Given the description of an element on the screen output the (x, y) to click on. 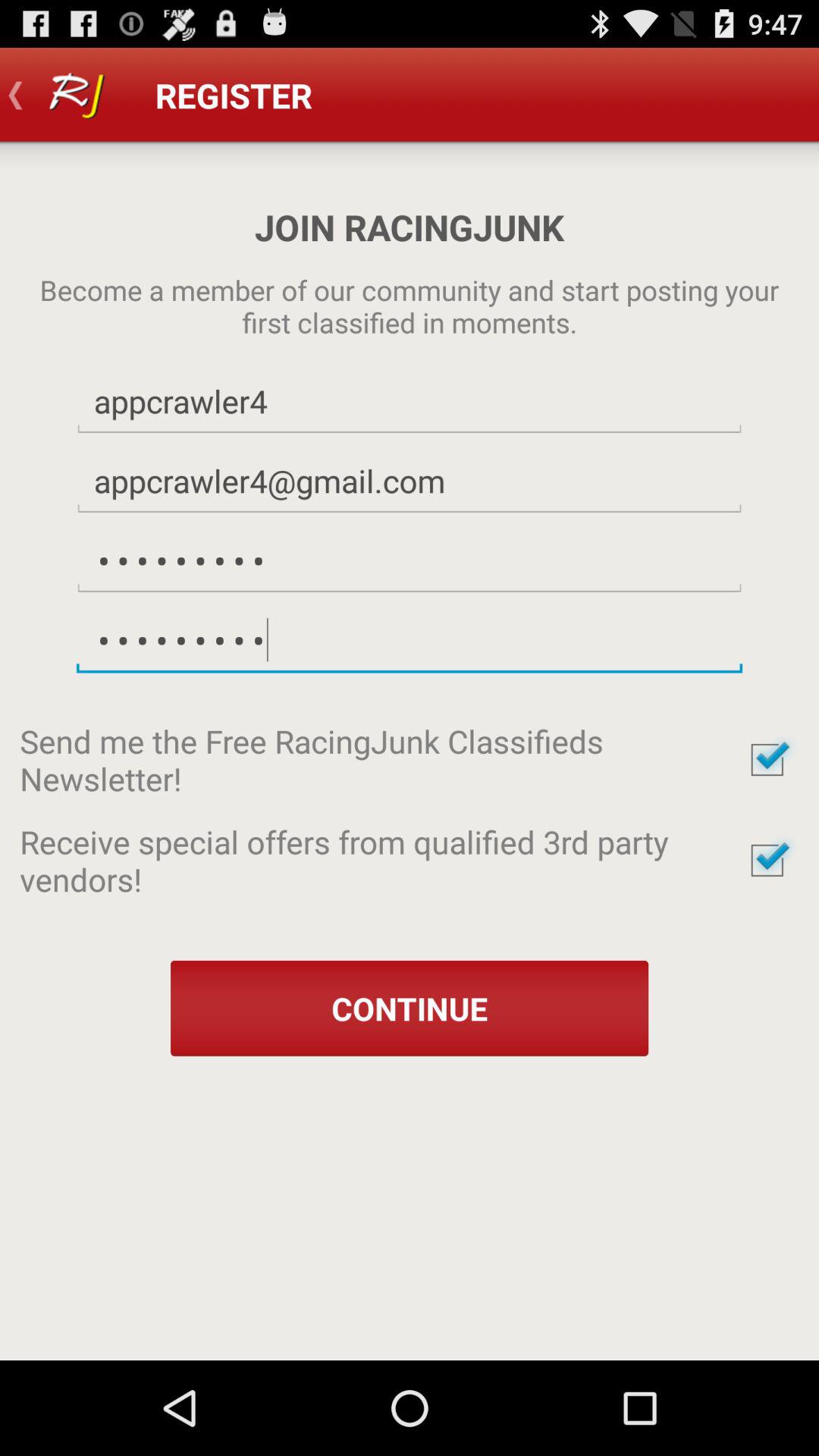
toggle send newsletter option (767, 759)
